Given the description of an element on the screen output the (x, y) to click on. 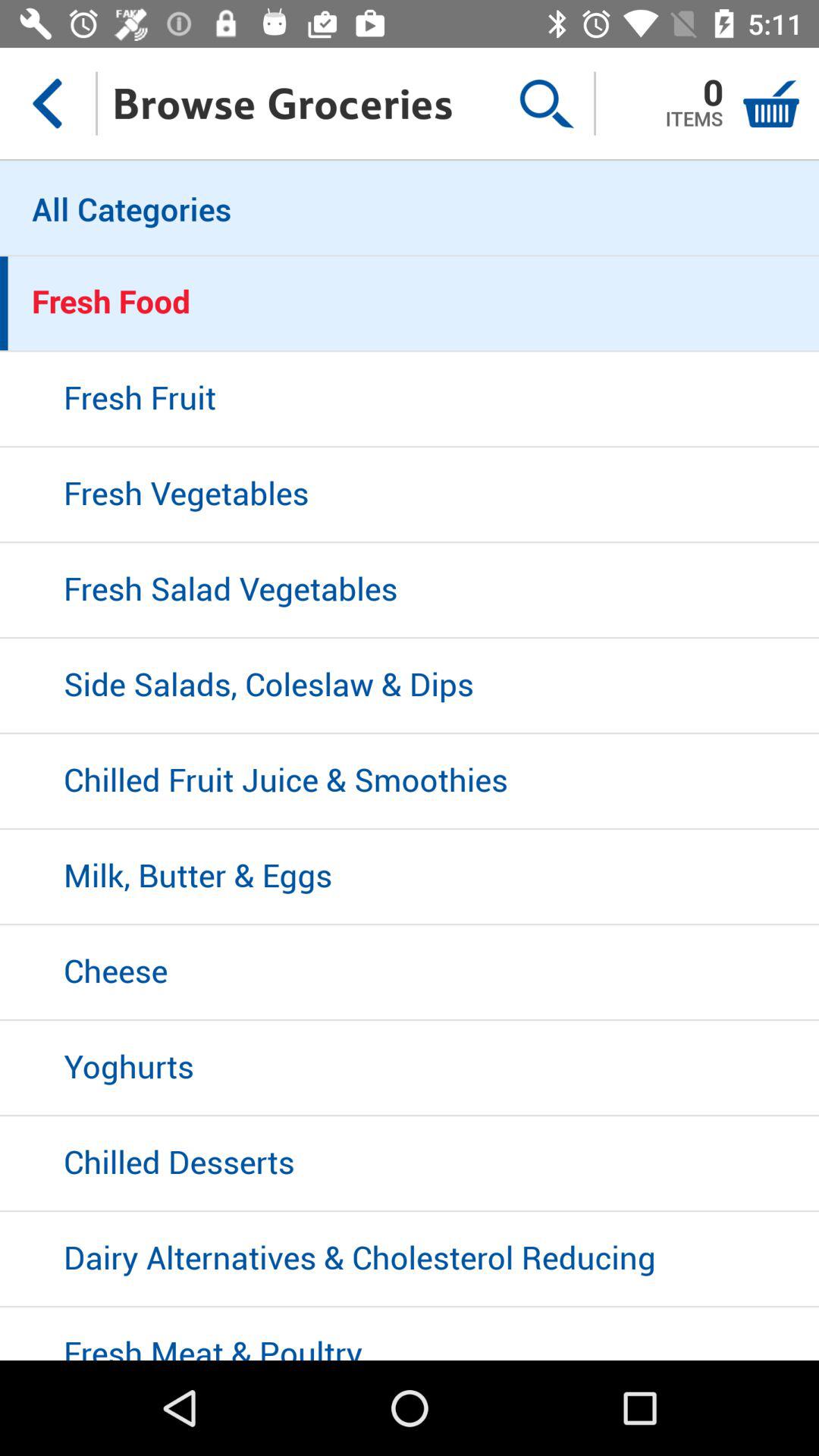
press the item below the fresh salad vegetables icon (409, 686)
